Given the description of an element on the screen output the (x, y) to click on. 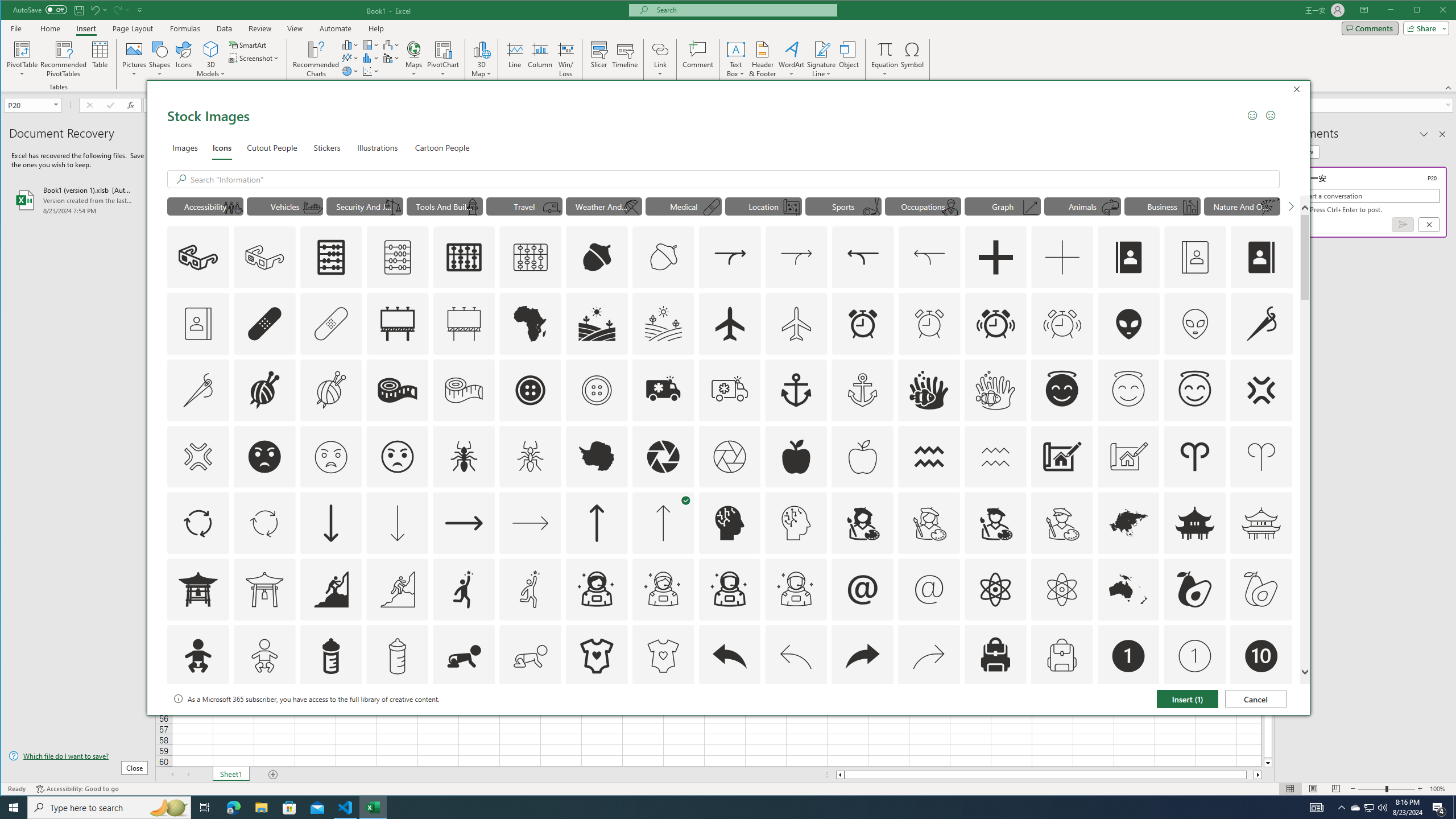
"Nature And Outdoors" Icons. (1241, 206)
AutomationID: Icons_ArrowCircle_M (264, 522)
AutomationID: Icons_Architecture_M (1128, 456)
AutomationID: Icons_Abacus_M (397, 256)
3D Map (481, 48)
"Travel" Icons. (524, 206)
Maps (413, 59)
AutomationID: Icons_Badge6_M (863, 721)
AutomationID: Icons_Back_LTR_M (796, 655)
AutomationID: Icons_Acorn_M (663, 256)
AutomationID: Icons_Ambulance_M (729, 389)
